Given the description of an element on the screen output the (x, y) to click on. 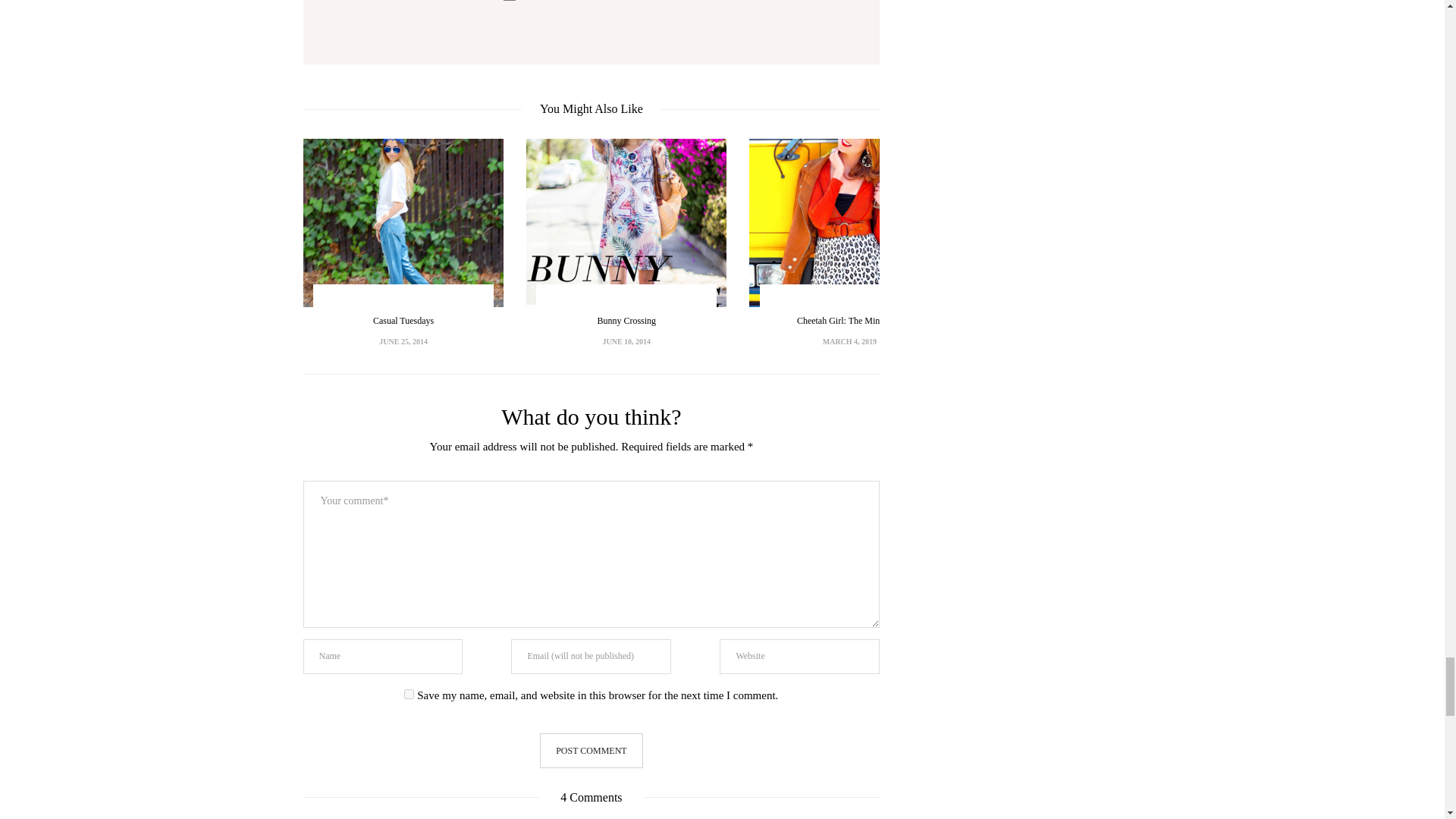
Post comment (591, 750)
yes (408, 694)
